Given the description of an element on the screen output the (x, y) to click on. 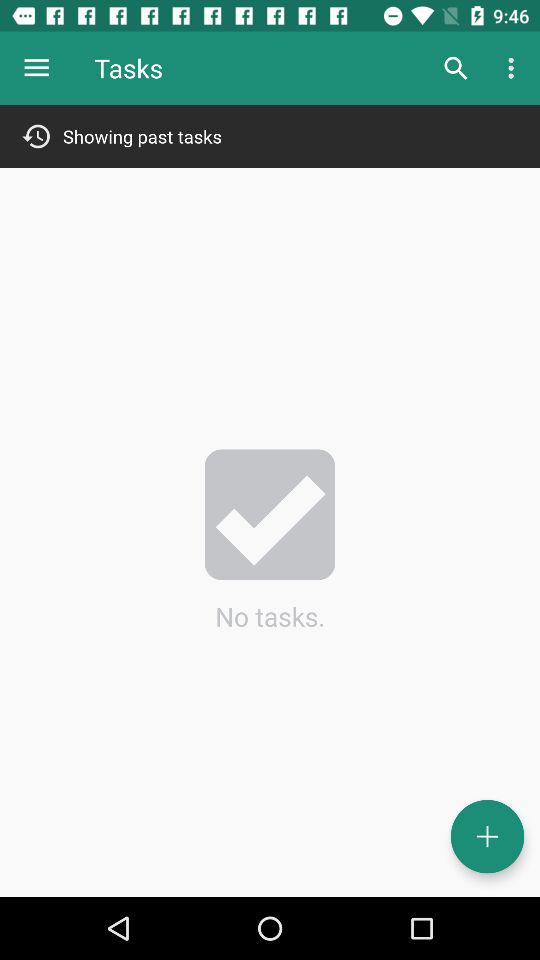
add task (487, 836)
